Given the description of an element on the screen output the (x, y) to click on. 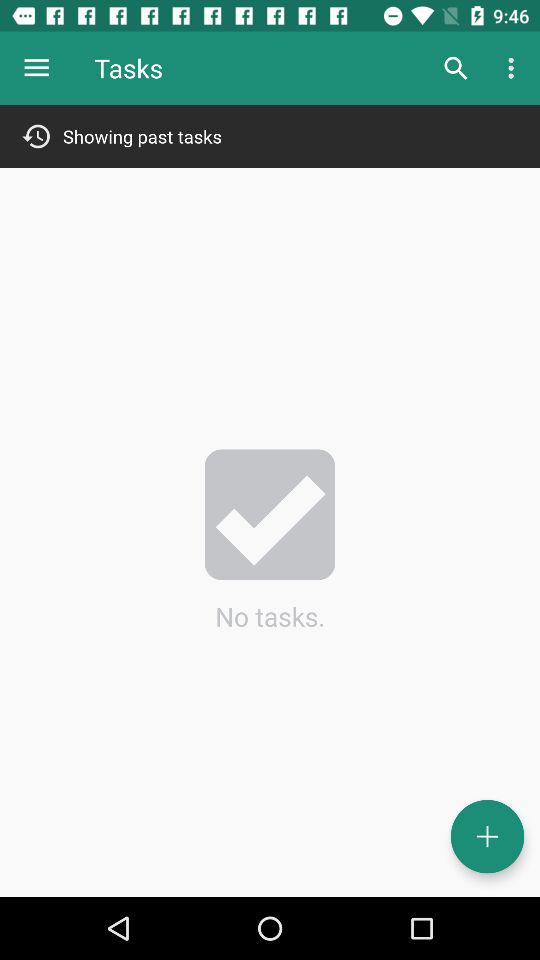
add task (487, 836)
